Given the description of an element on the screen output the (x, y) to click on. 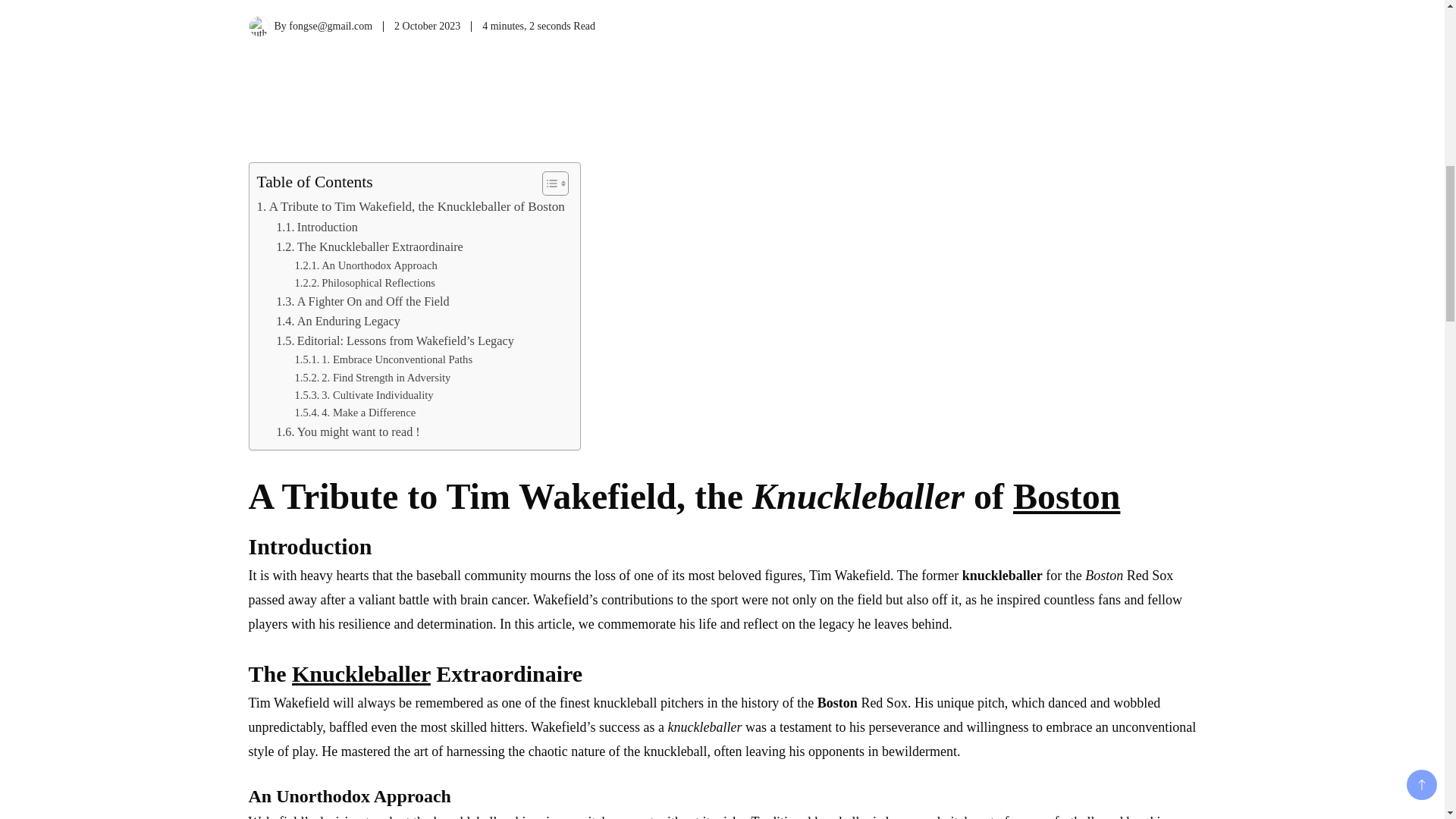
A Tribute to Tim Wakefield, the Knuckleballer of Boston (410, 206)
3. Cultivate Individuality (363, 395)
The Knuckleballer Extraordinaire (369, 247)
4. Make a Difference (354, 412)
An Unorthodox Approach (365, 265)
2. Find Strength in Adversity (371, 377)
A Tribute to Tim Wakefield, the Knuckleballer of Boston (410, 206)
Introduction (317, 227)
You might want to read ! (348, 432)
1. Embrace Unconventional Paths (382, 359)
